Given the description of an element on the screen output the (x, y) to click on. 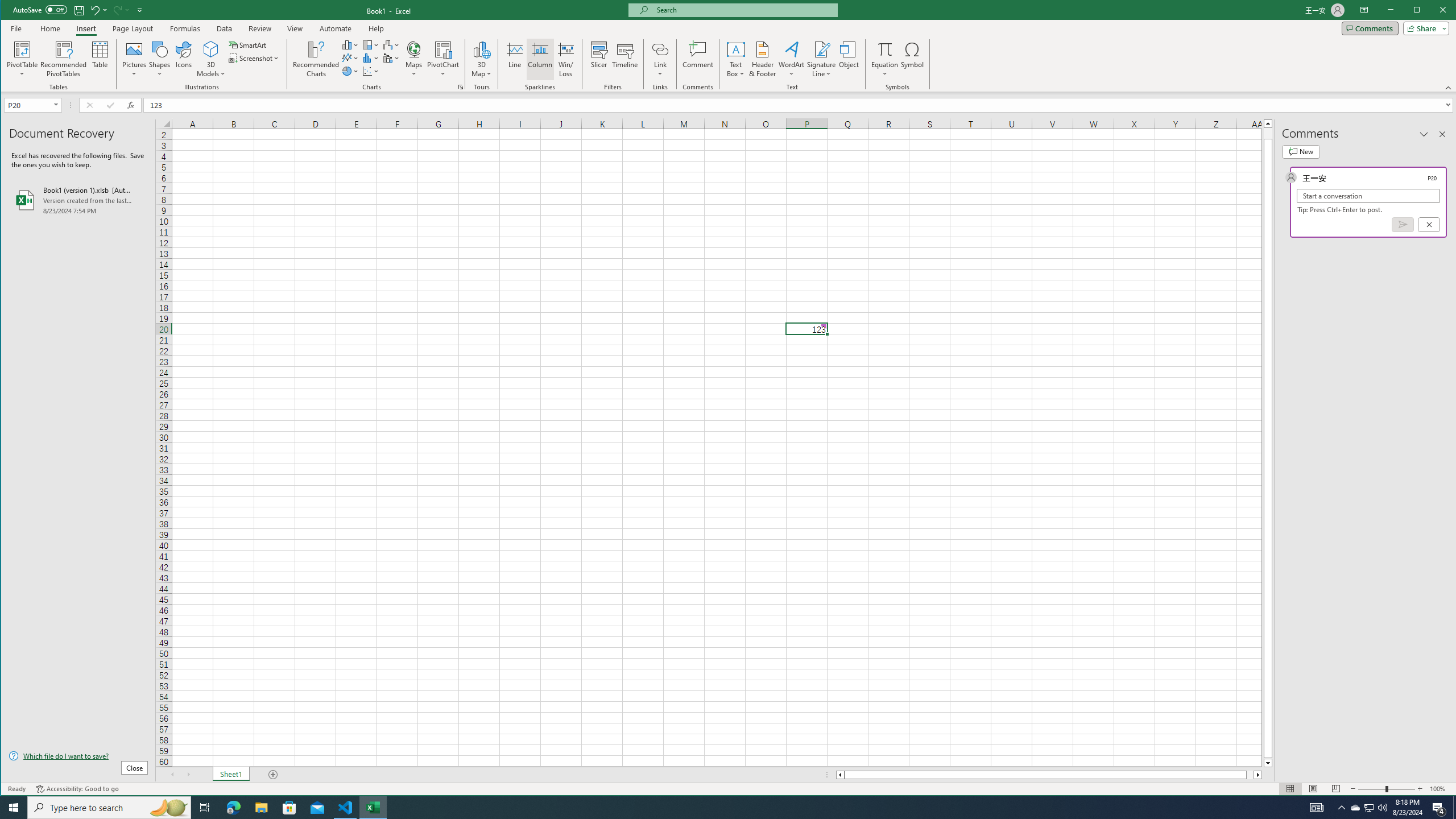
Link (659, 48)
Notification Chevron (1341, 807)
Text Box (735, 59)
Pictures (134, 59)
Q2790: 100% (1382, 807)
Recommended Charts (460, 86)
Task View (204, 807)
